Given the description of an element on the screen output the (x, y) to click on. 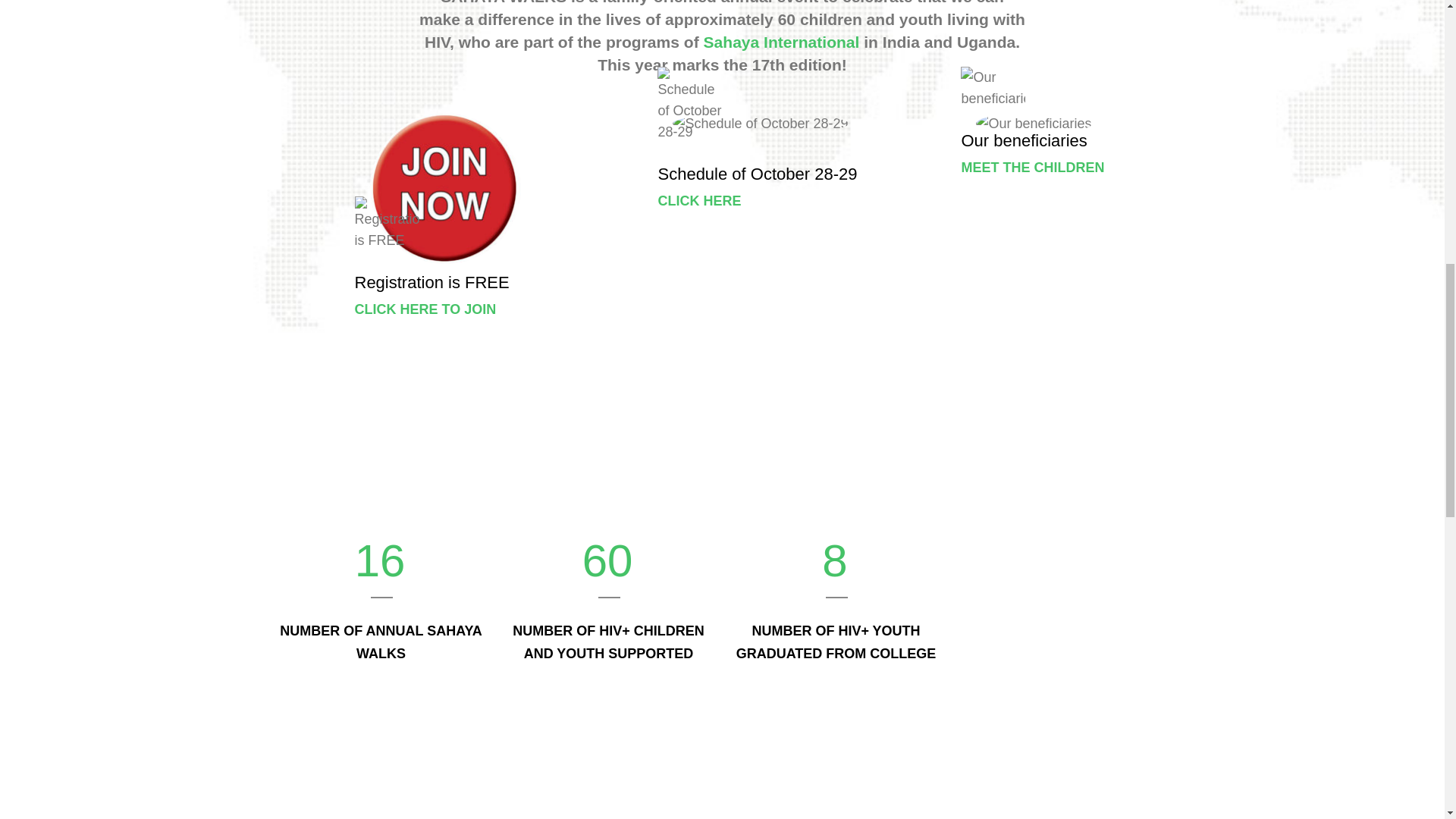
CLICK HERE TO JOIN (425, 309)
Sahaya International (781, 41)
CLICK HERE (699, 200)
